Given the description of an element on the screen output the (x, y) to click on. 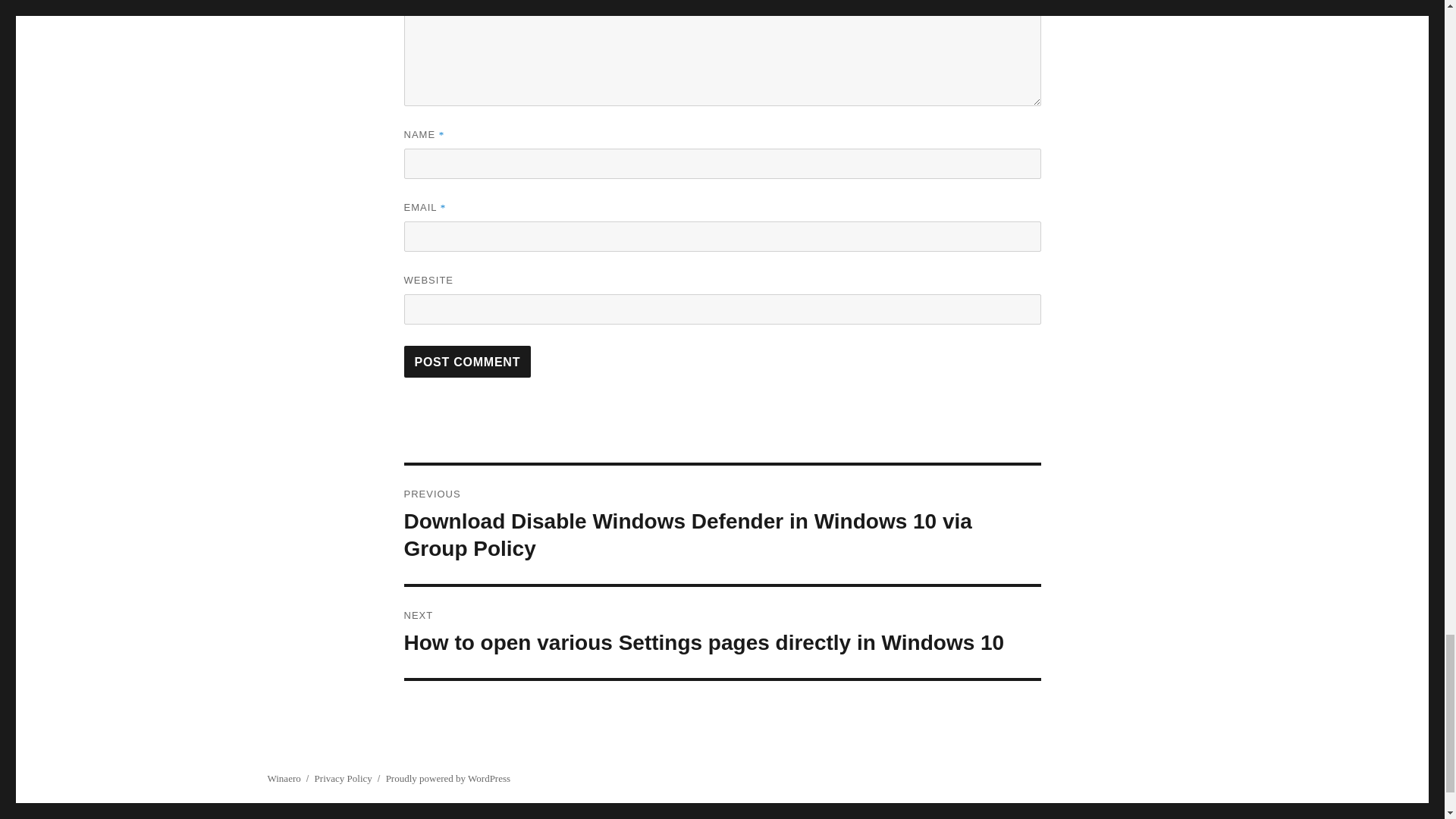
Winaero (282, 778)
Proudly powered by WordPress (448, 778)
Privacy Policy (343, 778)
Post Comment (467, 361)
Post Comment (467, 361)
